Given the description of an element on the screen output the (x, y) to click on. 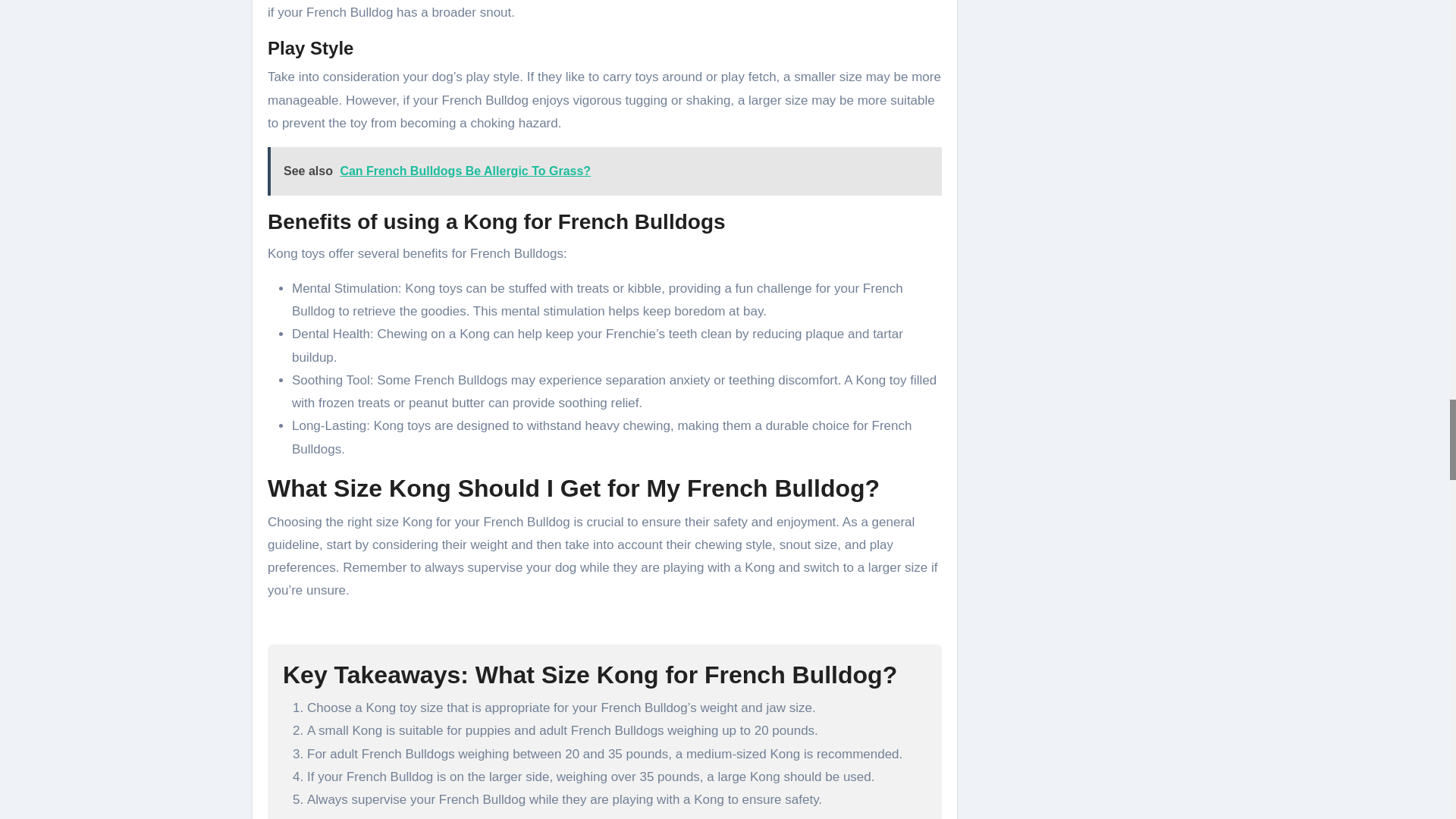
See also  Can French Bulldogs Be Allergic To Grass? (604, 171)
